Given the description of an element on the screen output the (x, y) to click on. 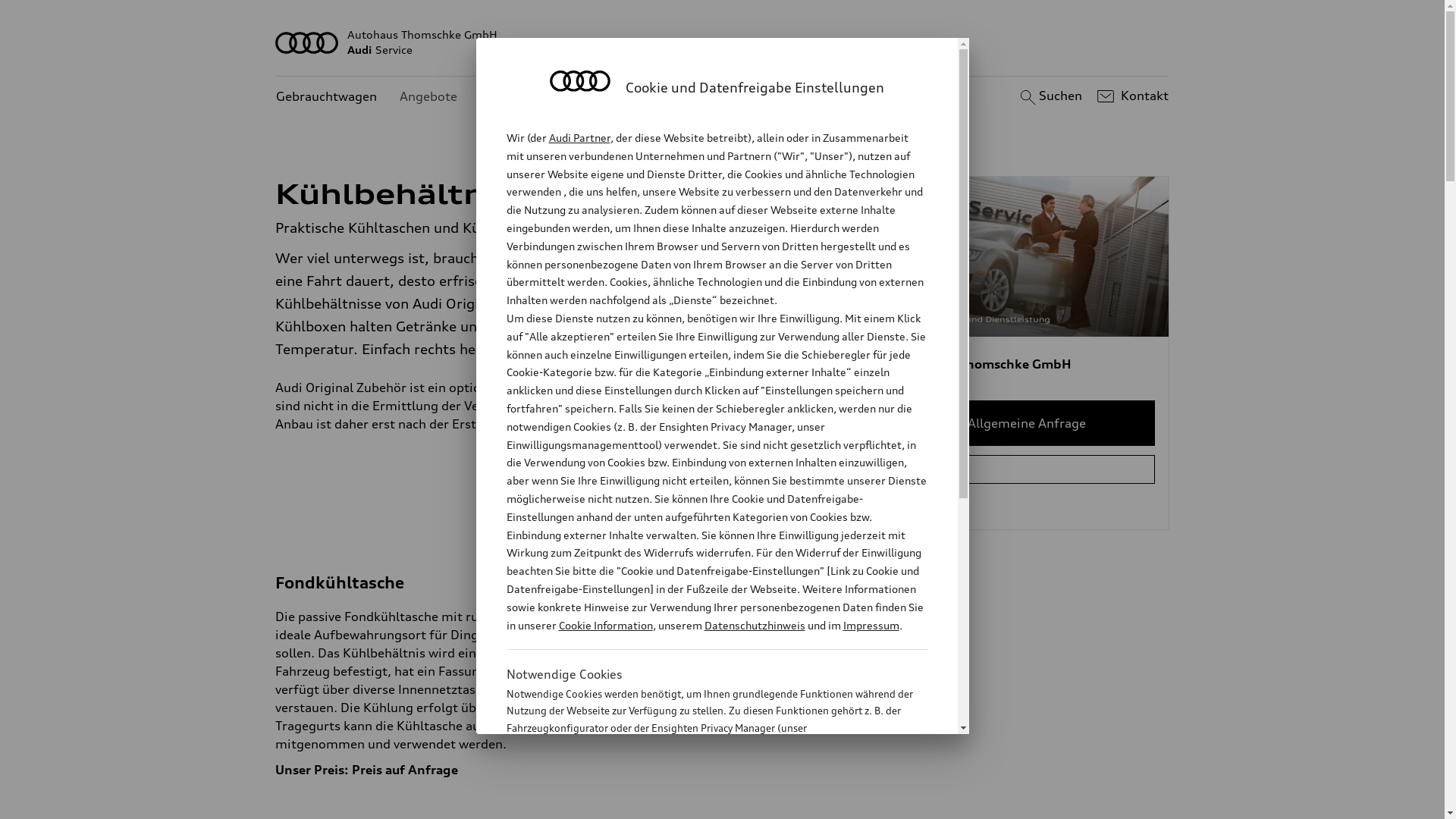
Cookie Information Element type: text (605, 624)
Allgemeine Anfrage Element type: text (1025, 422)
Datenschutzhinweis Element type: text (753, 624)
Audi Partner Element type: text (579, 137)
Cookie Information Element type: text (700, 802)
Suchen Element type: text (1049, 96)
Gebrauchtwagen Element type: text (326, 96)
Impressum Element type: text (871, 624)
Preis auf Anfrage Element type: text (404, 769)
Kundenservice Element type: text (523, 96)
Angebote Element type: text (428, 96)
Autohaus Thomschke GmbH
AudiService Element type: text (722, 42)
Kontakt Element type: text (1130, 96)
